Given the description of an element on the screen output the (x, y) to click on. 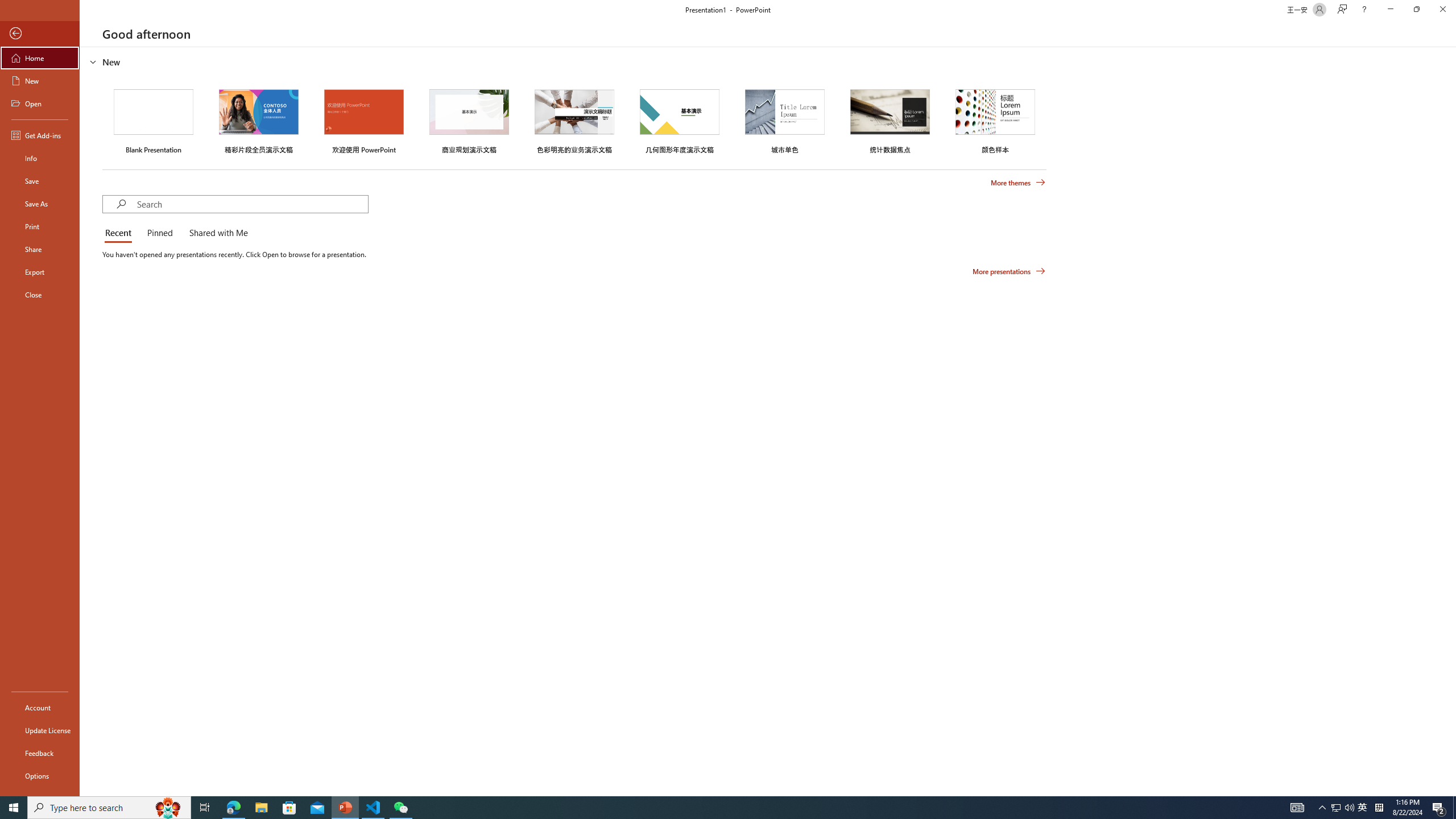
Class: NetUIScrollBar (1450, 421)
Options (40, 775)
Feedback (40, 753)
Save As (40, 203)
Print (40, 225)
Back (40, 33)
